Given the description of an element on the screen output the (x, y) to click on. 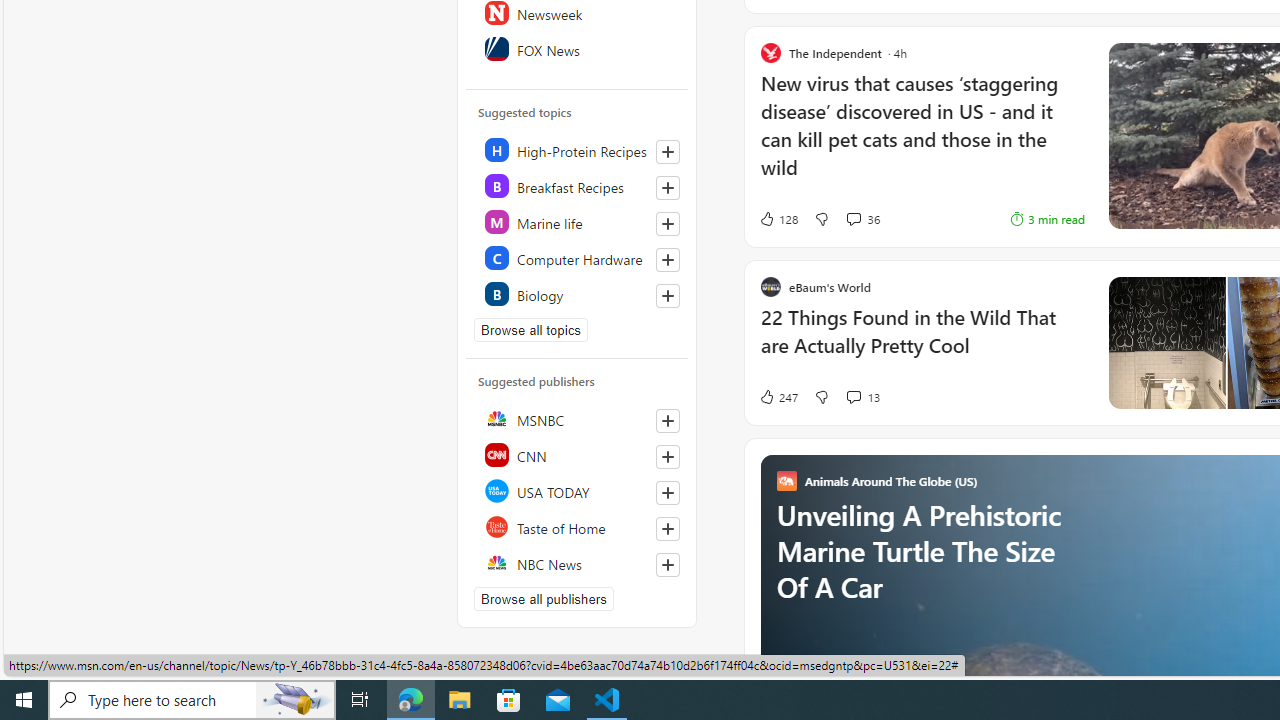
Browse all publishers (543, 598)
View comments 36 Comment (852, 218)
Class: highlight (578, 293)
View comments 13 Comment (862, 396)
USA TODAY (578, 490)
NBC News (578, 562)
MSNBC (578, 418)
Taste of Home (578, 526)
Follow this source (667, 564)
View comments 13 Comment (852, 396)
128 Like (778, 219)
FOX News (578, 48)
